Given the description of an element on the screen output the (x, y) to click on. 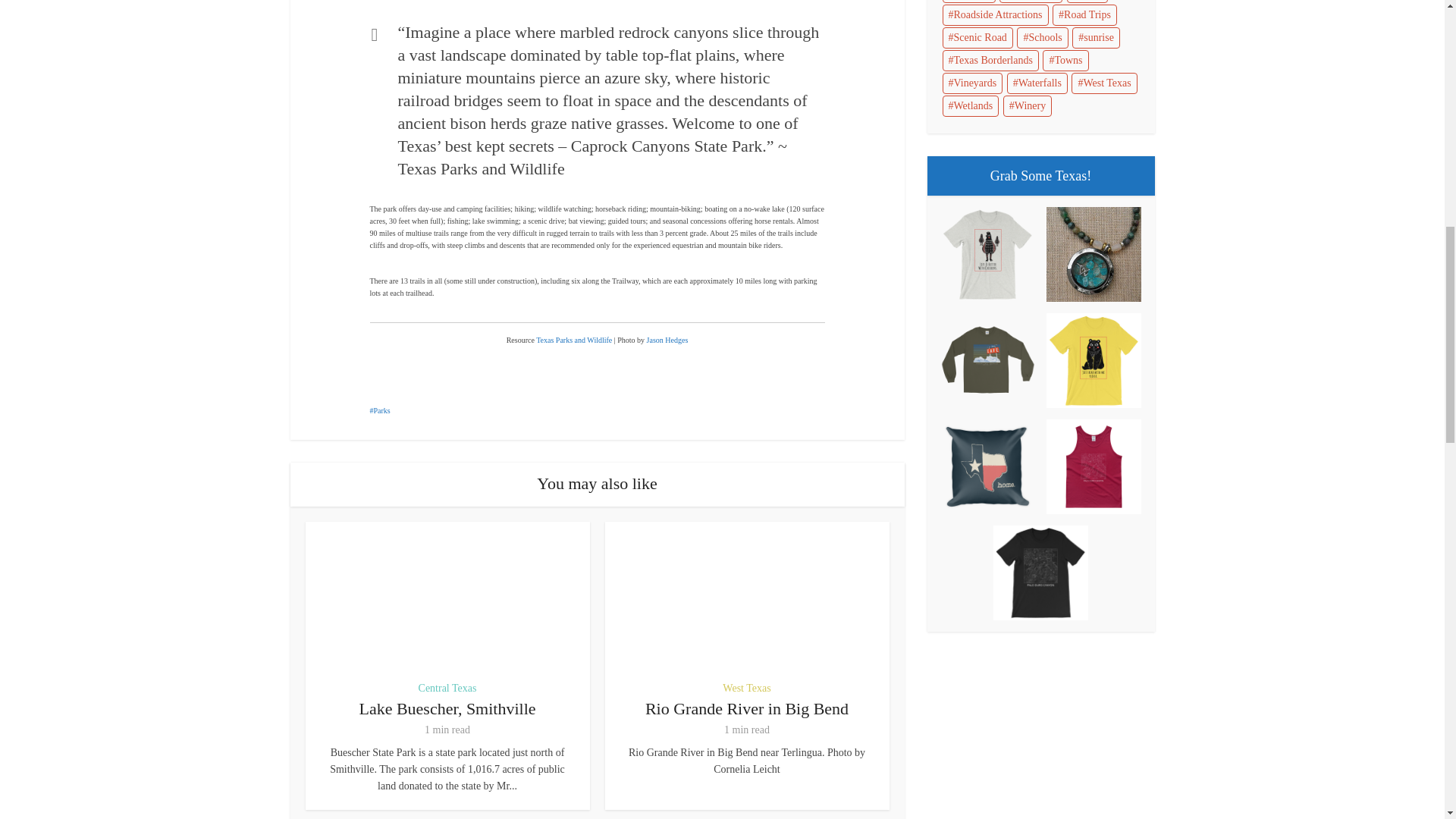
Lake Buescher, Smithville (446, 708)
Jason Hedges (667, 339)
Rio Grande River in Big Bend (746, 708)
Texas Parks and Wildlife (573, 339)
